Given the description of an element on the screen output the (x, y) to click on. 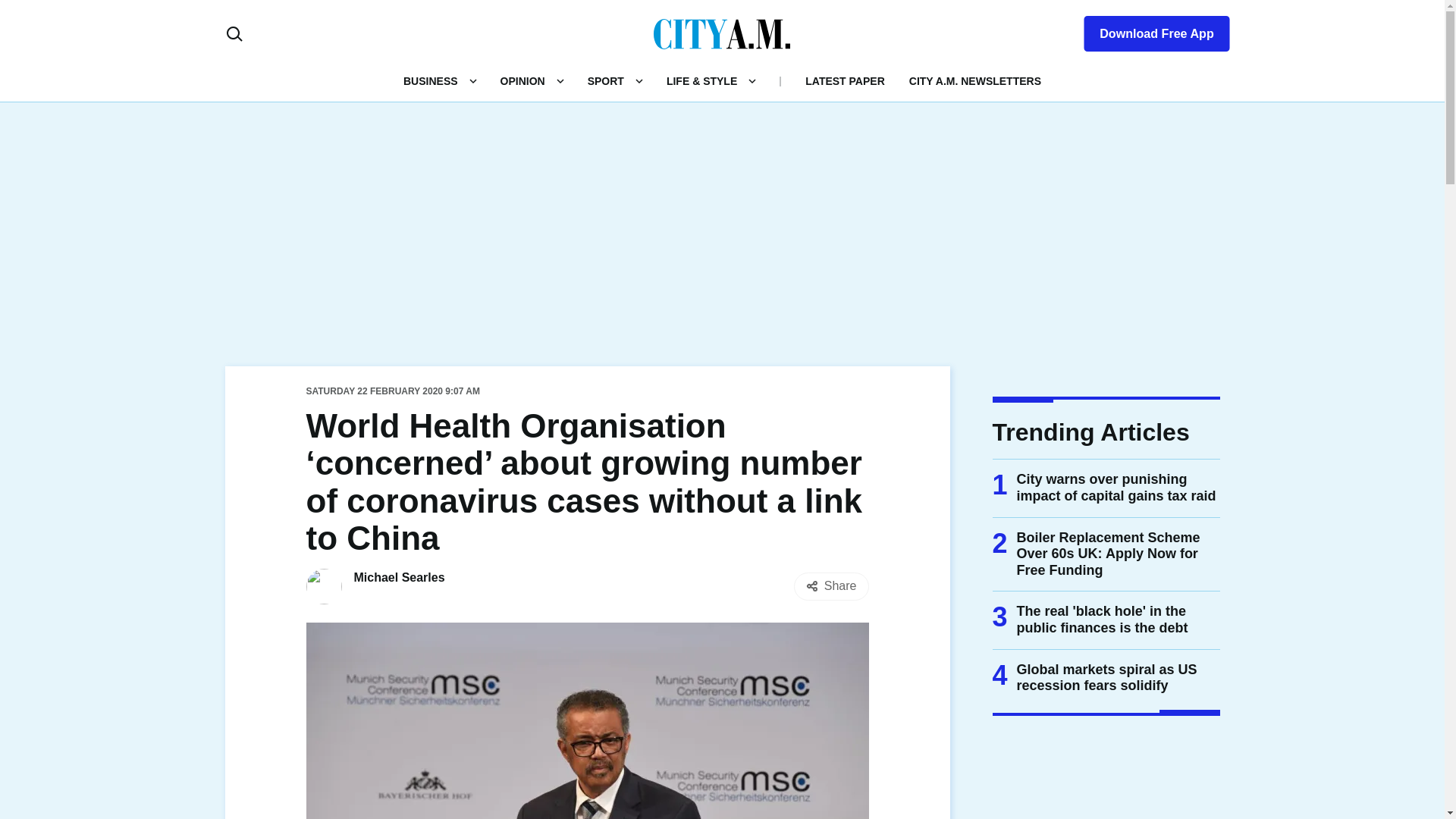
OPINION (522, 80)
SPORT (606, 80)
BUSINESS (430, 80)
Download Free App (1146, 30)
CityAM (721, 33)
